Given the description of an element on the screen output the (x, y) to click on. 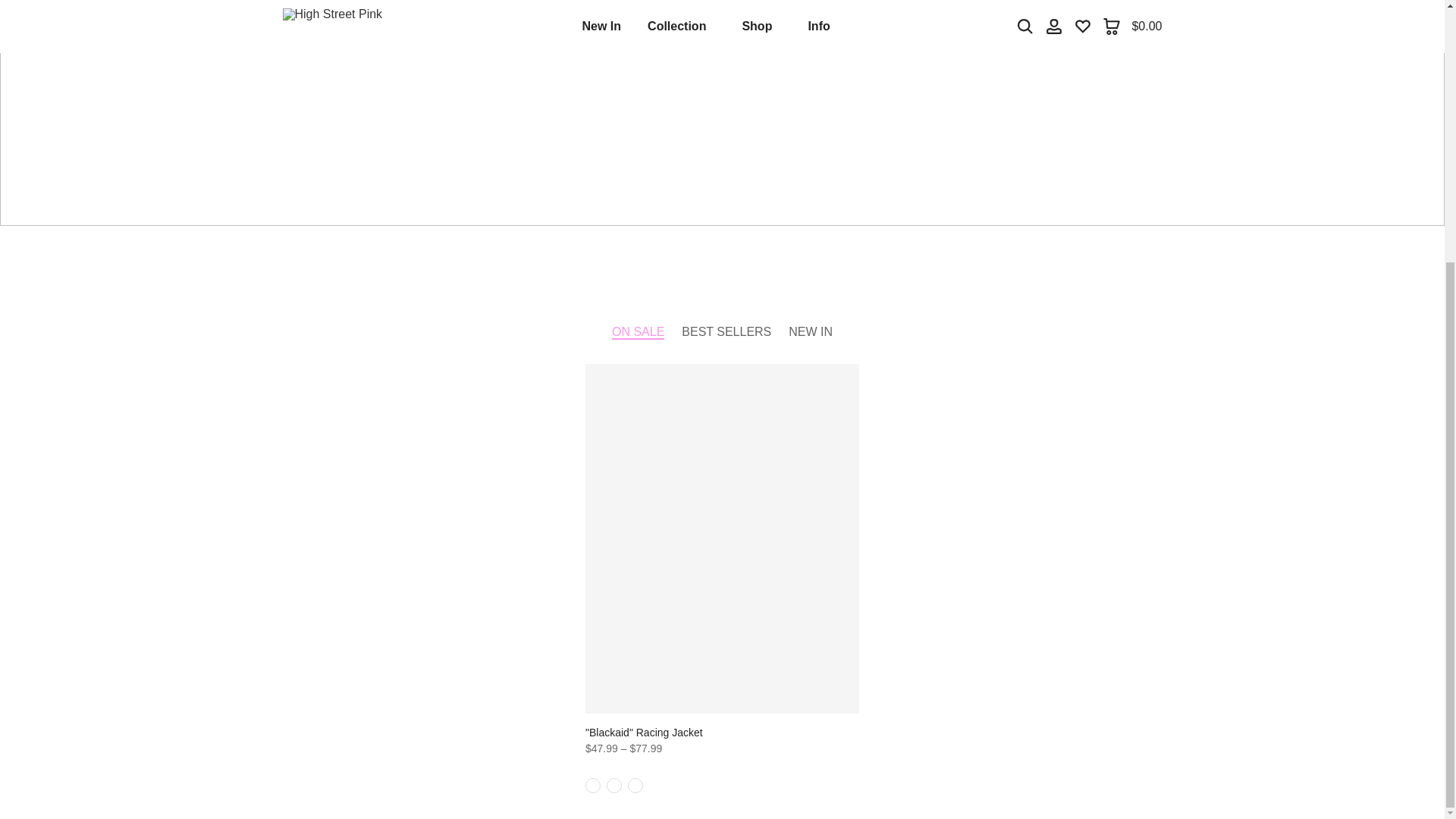
BEST SELLERS (726, 331)
NEW IN (810, 331)
ON SALE (637, 331)
